Given the description of an element on the screen output the (x, y) to click on. 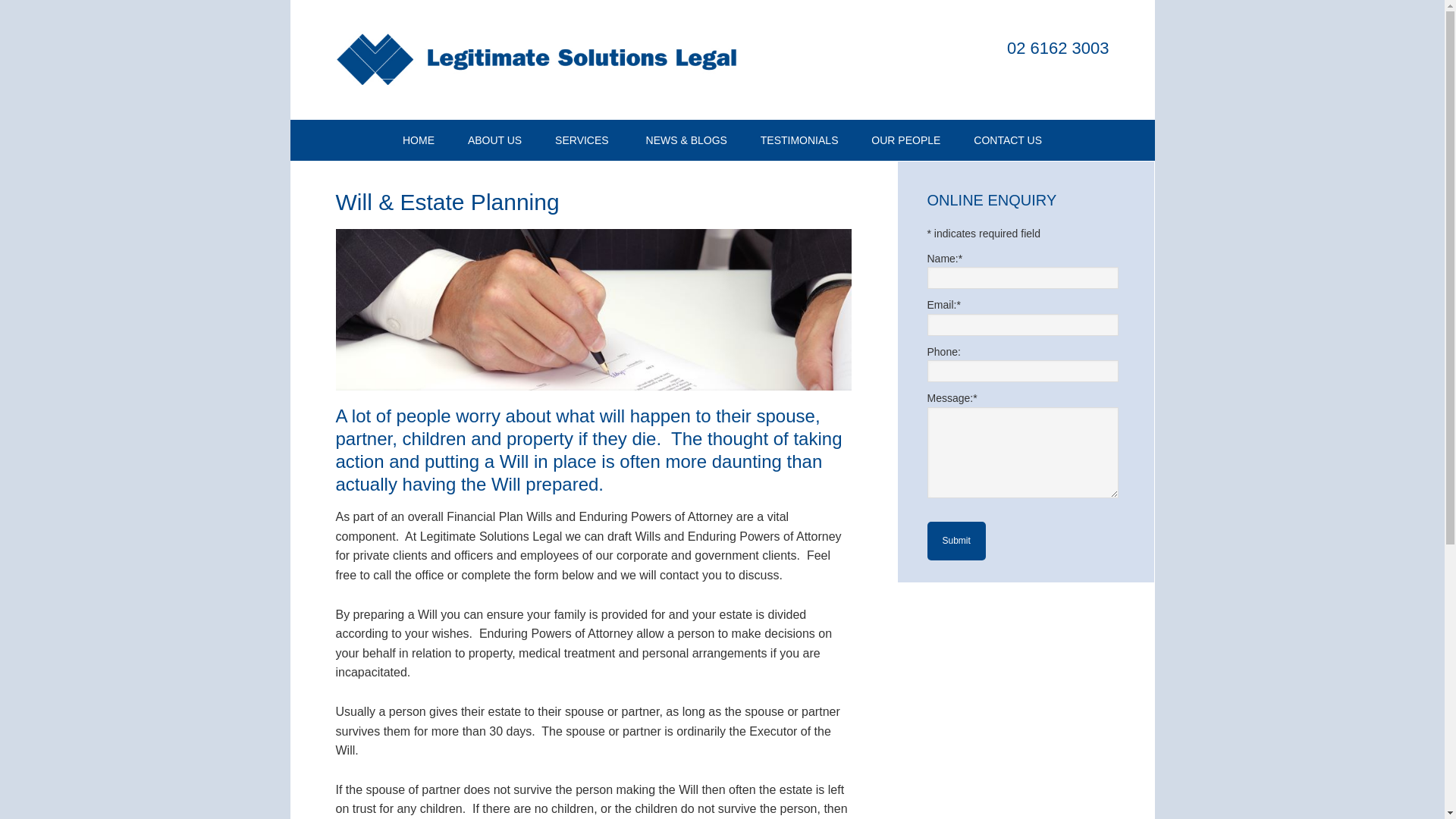
Submit Element type: text (955, 540)
OUR PEOPLE Element type: text (905, 139)
HOME Element type: text (418, 139)
02 6162 3003 Element type: text (1058, 47)
Skip to primary navigation Element type: text (289, 0)
CONTACT US Element type: text (1007, 139)
Legitimate Solutions Legal Element type: hover (539, 59)
SERVICES Element type: text (583, 139)
ABOUT US Element type: text (494, 139)
NEWS & BLOGS Element type: text (686, 139)
TESTIMONIALS Element type: text (799, 139)
